Given the description of an element on the screen output the (x, y) to click on. 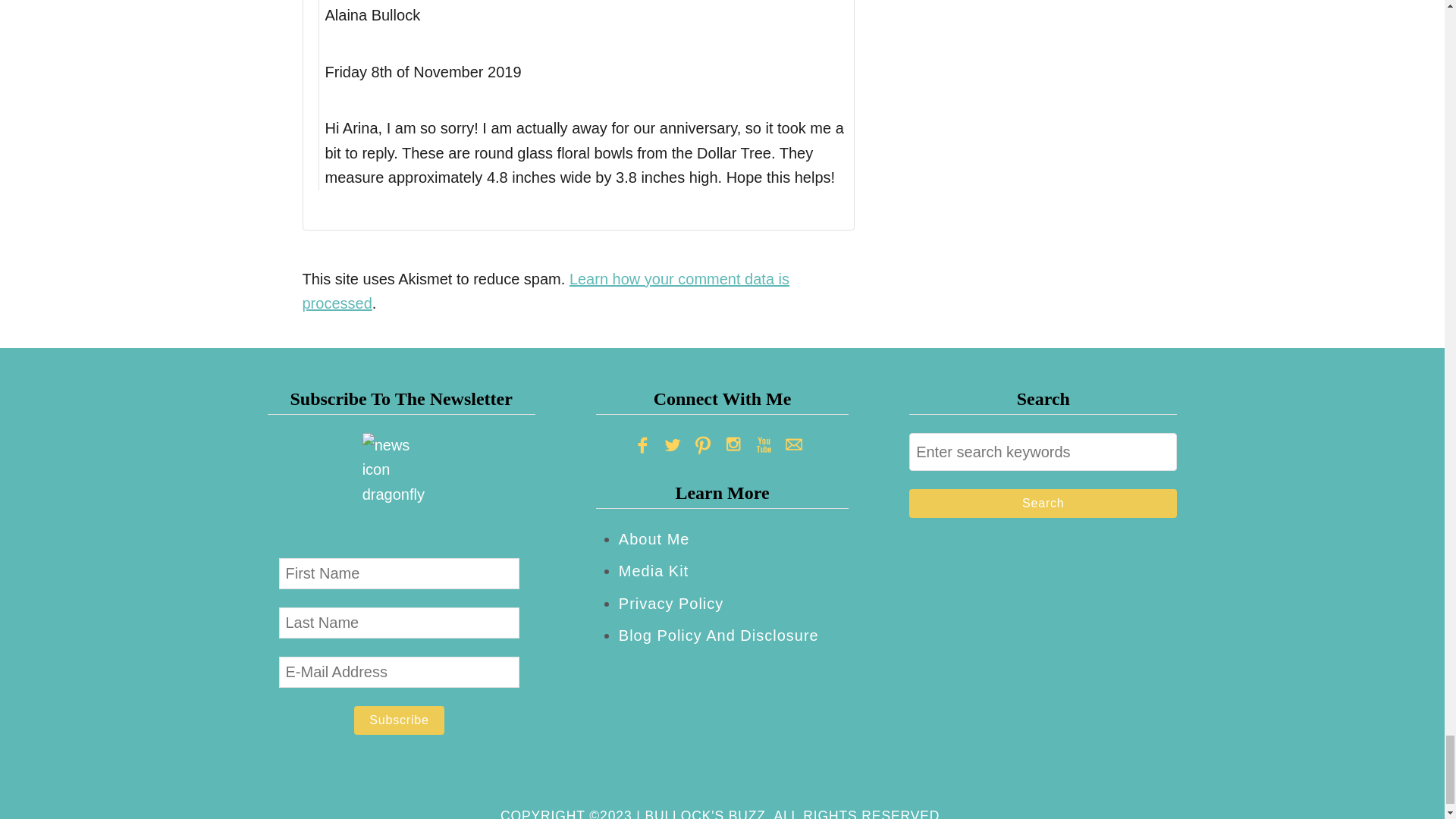
Search for: (1042, 452)
Subscribe (398, 719)
Search (1042, 502)
Search (1042, 502)
